Given the description of an element on the screen output the (x, y) to click on. 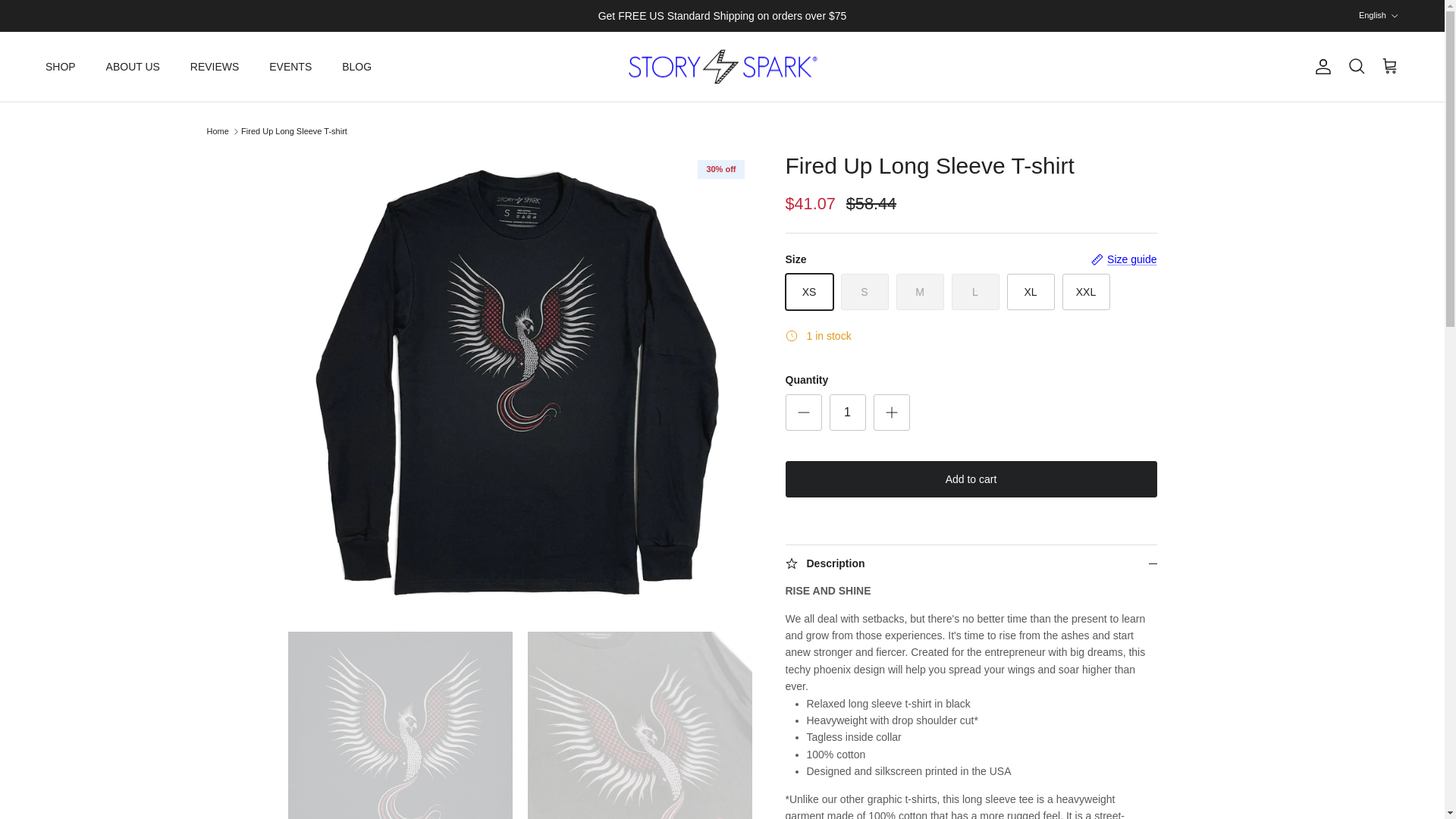
Search (1356, 66)
English (1378, 15)
STORY SPARK (721, 66)
Sold out (919, 291)
Sold out (974, 291)
Sold out (864, 291)
SHOP (60, 66)
Account (1319, 66)
BLOG (357, 66)
Cart (1389, 66)
ABOUT US (133, 66)
1 (847, 411)
EVENTS (290, 66)
REVIEWS (214, 66)
